Given the description of an element on the screen output the (x, y) to click on. 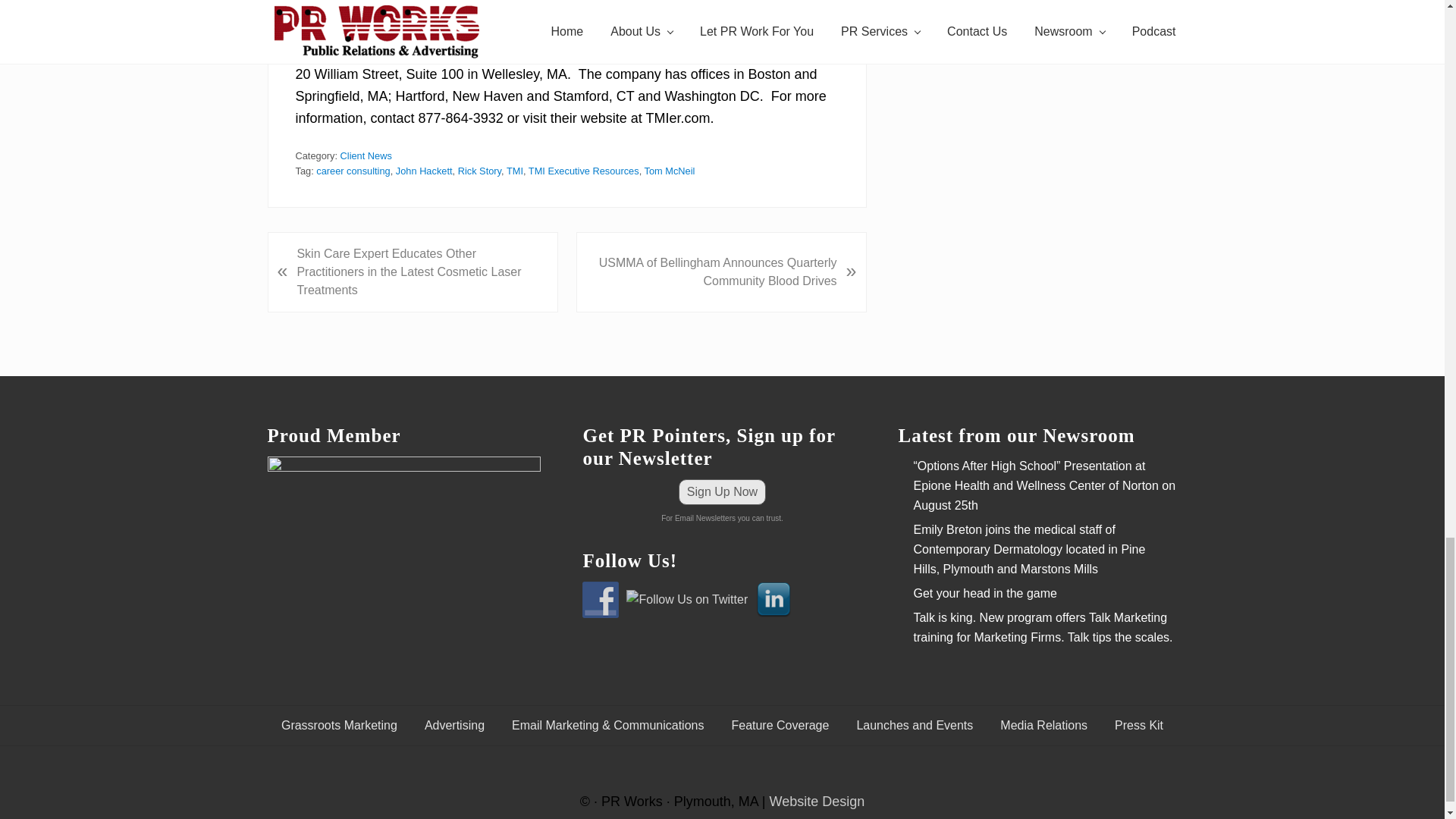
Follow Us on LinkedIn (773, 599)
Follow Us on Facebook (600, 599)
Follow Us on Twitter (687, 599)
